Given the description of an element on the screen output the (x, y) to click on. 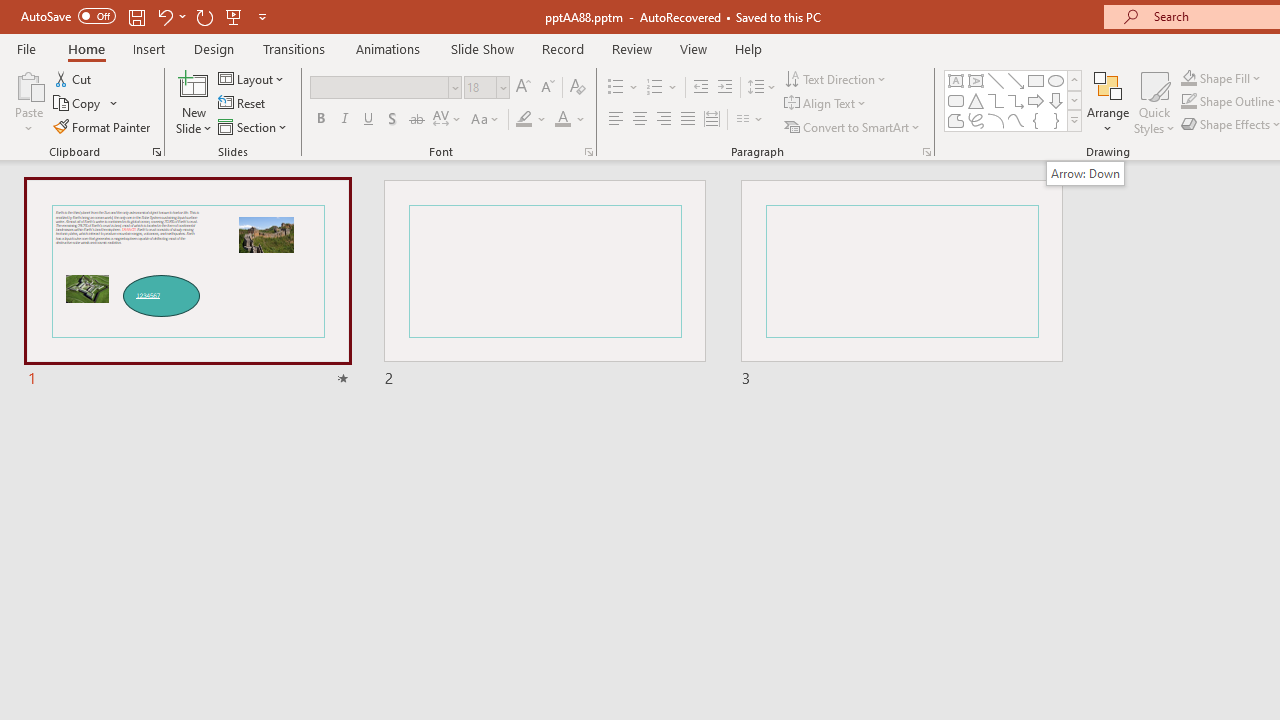
Arrow: Right (1035, 100)
Columns (750, 119)
Align Right (663, 119)
Shape Fill (1221, 78)
Section (254, 126)
Text Direction (836, 78)
Character Spacing (447, 119)
Arrow: Down (1085, 173)
Align Left (616, 119)
